Given the description of an element on the screen output the (x, y) to click on. 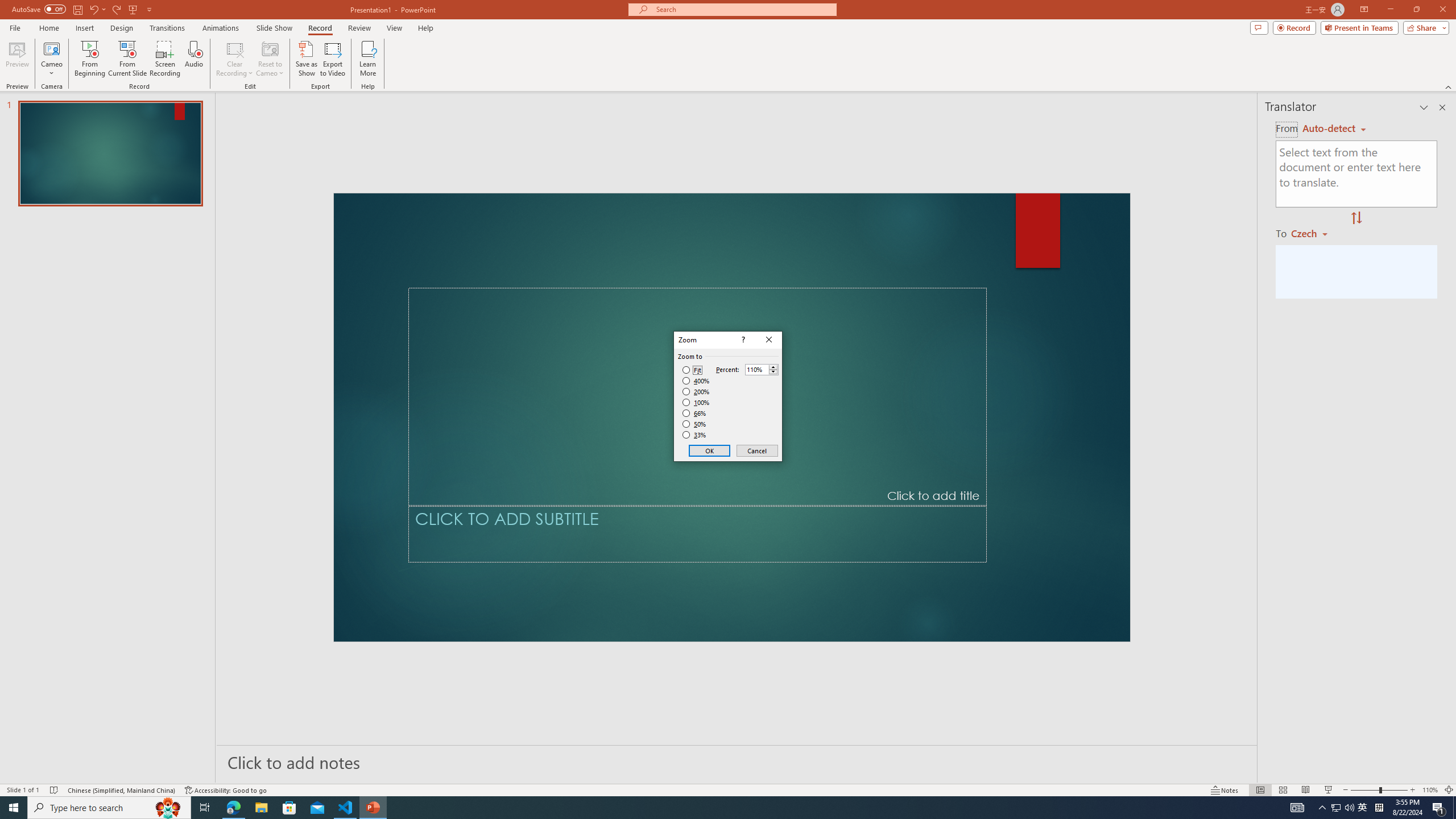
66% (694, 412)
Percent (761, 369)
200% (696, 391)
